Given the description of an element on the screen output the (x, y) to click on. 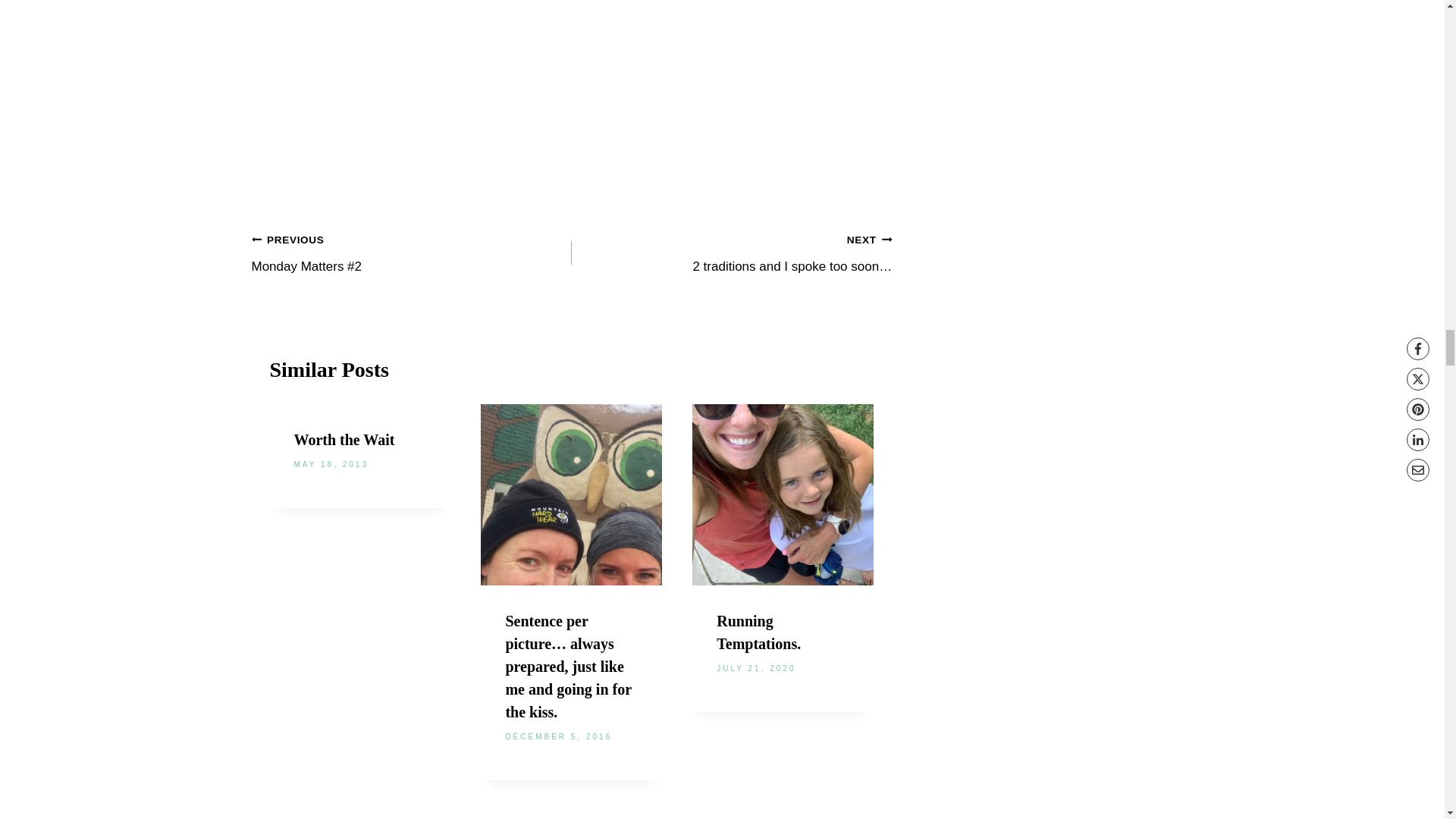
Worth the Wait (344, 439)
